Given the description of an element on the screen output the (x, y) to click on. 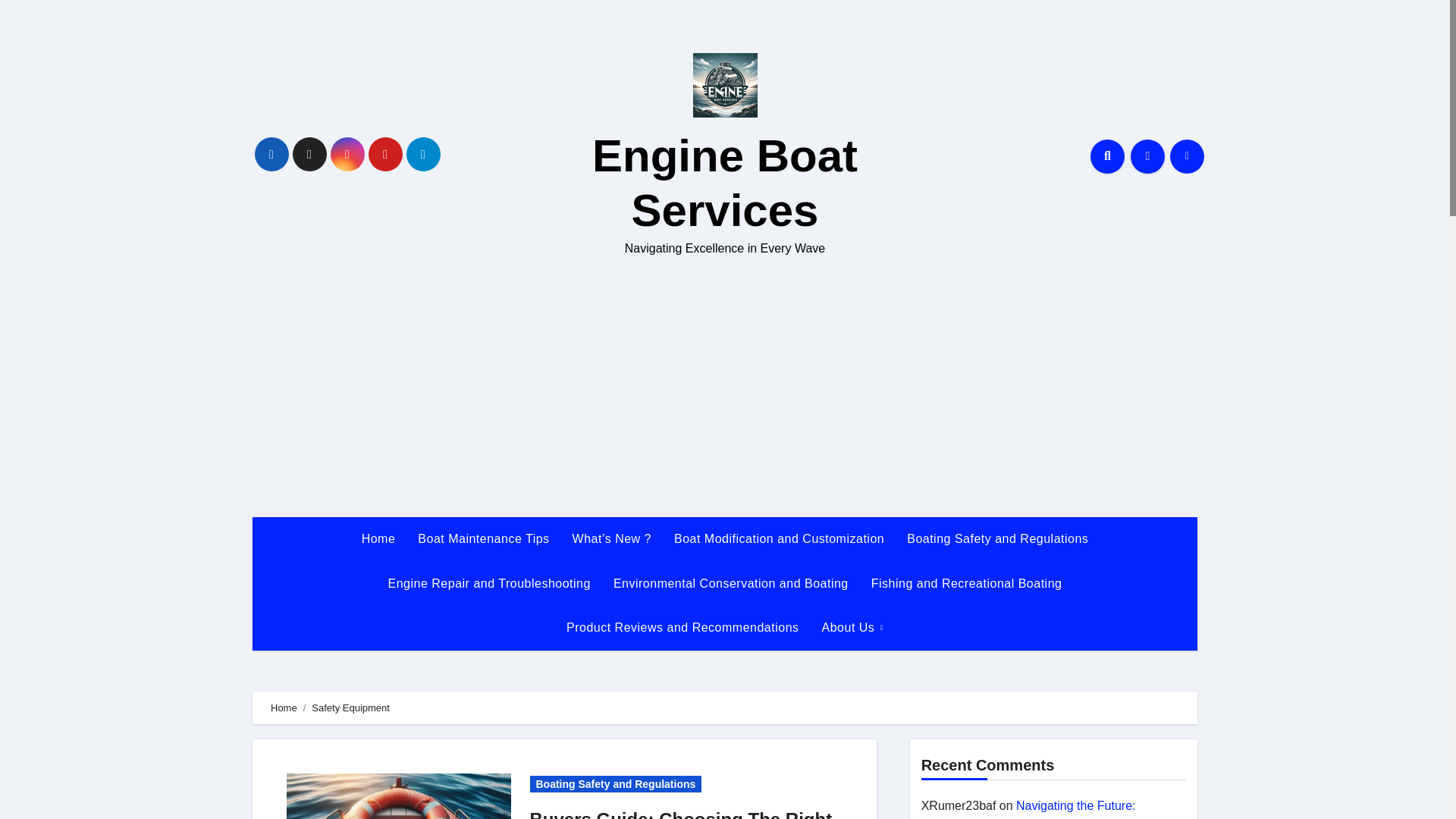
Boating Safety and Regulations (615, 783)
Home (378, 538)
Engine Repair and Troubleshooting (489, 583)
Product Reviews and Recommendations (682, 628)
Fishing and Recreational Boating (967, 583)
Boating Safety and Regulations (997, 538)
Boat Modification and Customization (778, 538)
Environmental Conservation and Boating (731, 583)
About Us (852, 628)
What's New ? (611, 538)
Boat Maintenance Tips (483, 538)
Engine Boat Services (724, 182)
Environmental Conservation and Boating (731, 583)
Fishing and Recreational Boating (967, 583)
Home (378, 538)
